Given the description of an element on the screen output the (x, y) to click on. 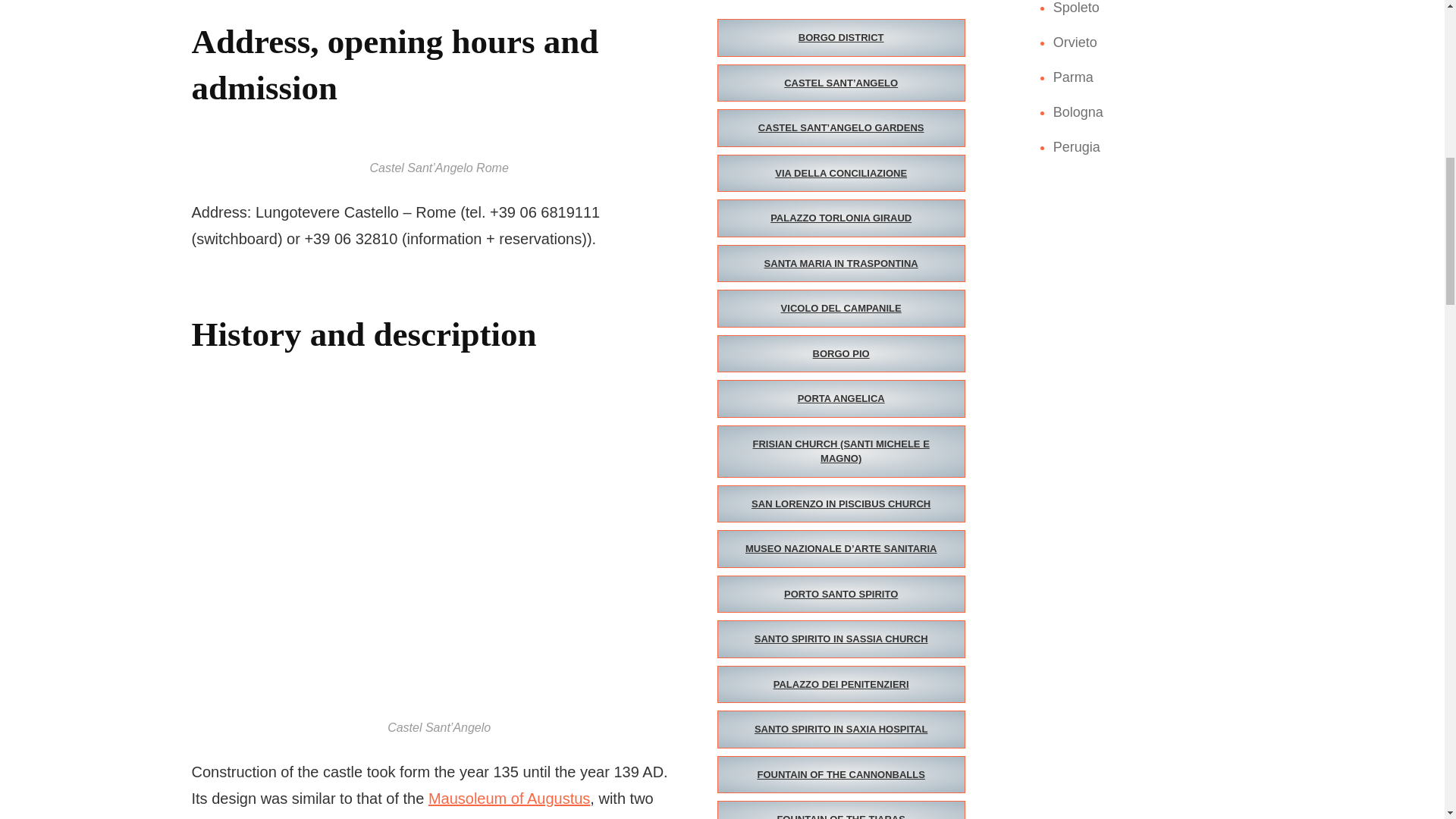
BORGO PIO (841, 353)
SANTA MARIA IN TRASPONTINA (841, 263)
VICOLO DEL CAMPANILE (841, 308)
VIA DELLA CONCILIAZIONE (841, 173)
BORGO DISTRICT (841, 37)
Mausoleum of Augustus (508, 798)
PORTA ANGELICA (841, 398)
PALAZZO TORLONIA GIRAUD (841, 218)
